Given the description of an element on the screen output the (x, y) to click on. 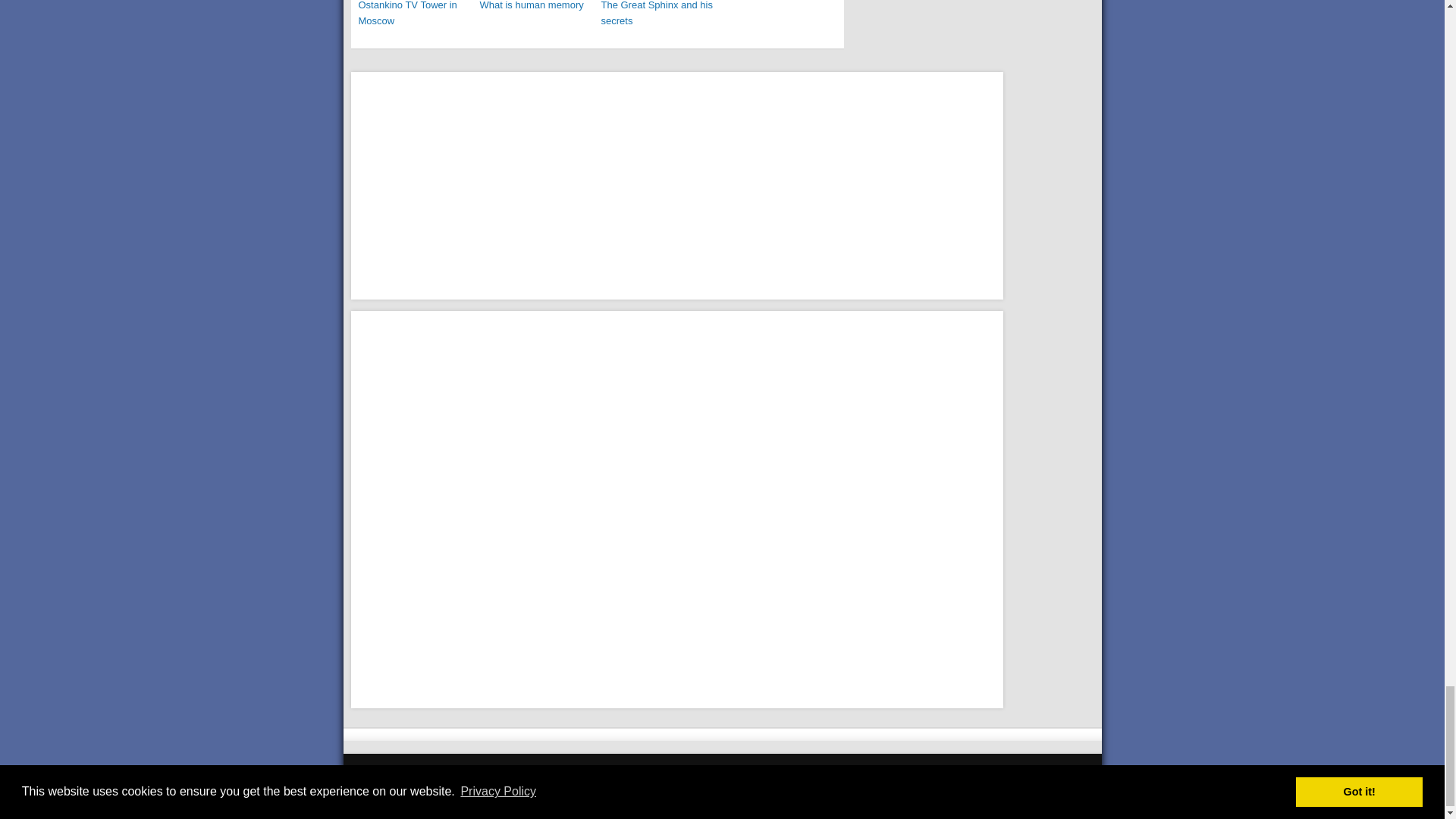
The Great Sphinx and his secrets (656, 14)
What is human memory (535, 6)
Ostankino TV Tower in Moscow (414, 14)
